Given the description of an element on the screen output the (x, y) to click on. 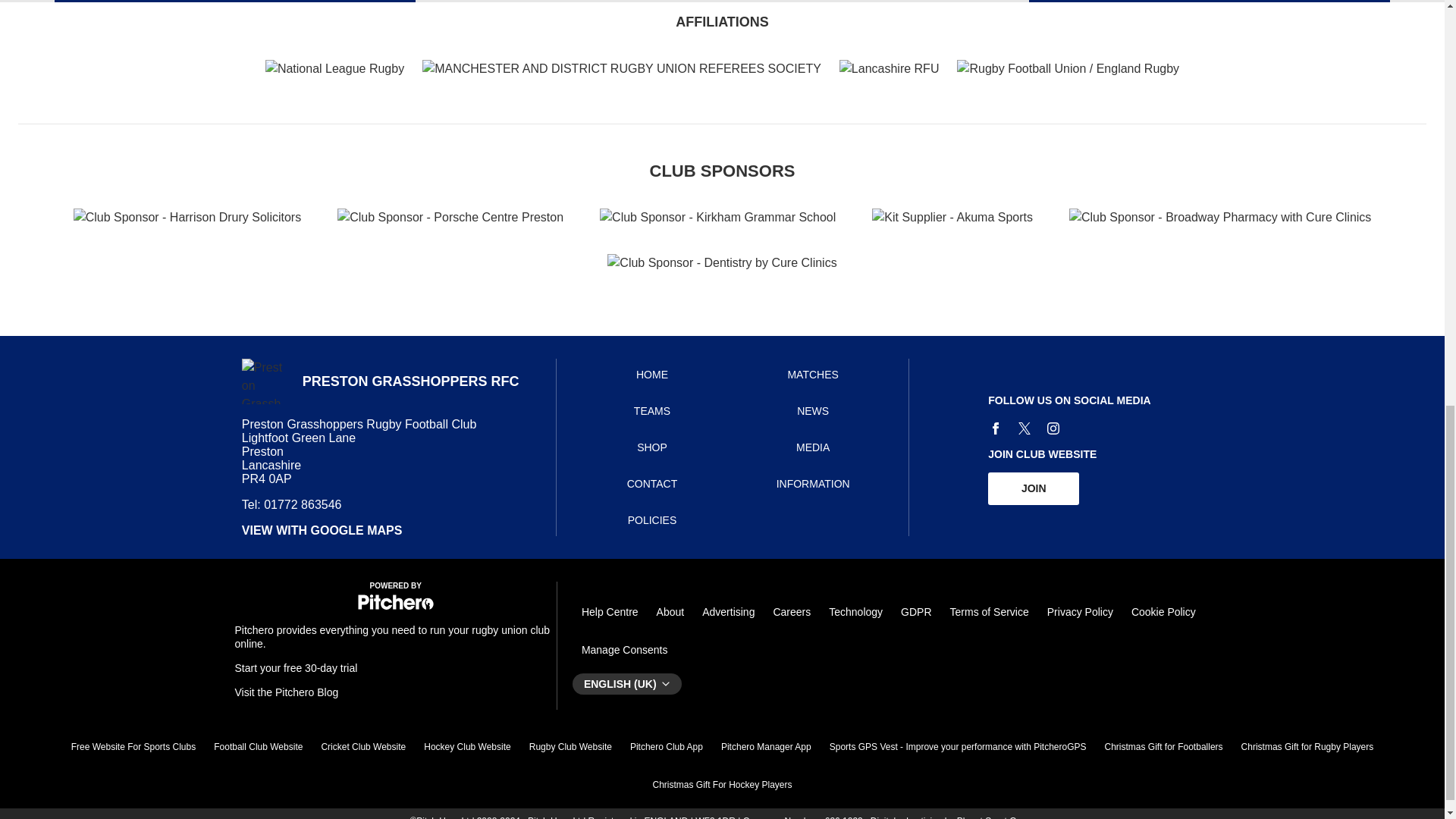
Club Sponsor - Porsche Centre Preston (450, 217)
Club Sponsor - Harrison Drury Solicitors (187, 217)
Club Sponsor - Broadway Pharmacy with Cure Clinics (1219, 217)
Club Sponsor - Kirkham Grammar School (717, 217)
Club Sponsor - Dentistry by Cure Clinics (721, 262)
Kit Supplier - Akuma Sports (952, 217)
